Given the description of an element on the screen output the (x, y) to click on. 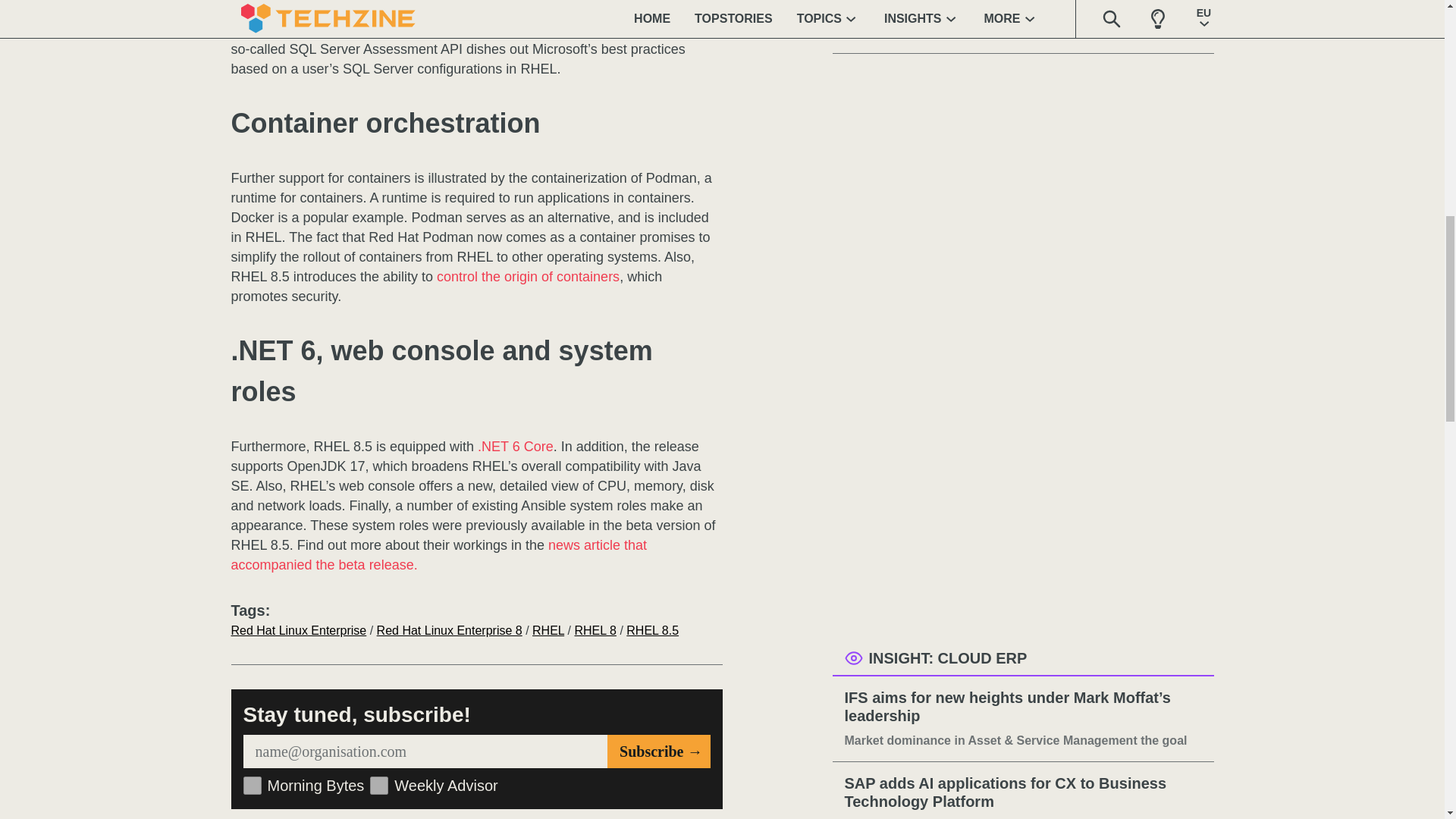
84623970802861205 (251, 785)
84623981521405447 (378, 785)
Web5 seeks to replace Web3: what is it? (1023, 9)
